Given the description of an element on the screen output the (x, y) to click on. 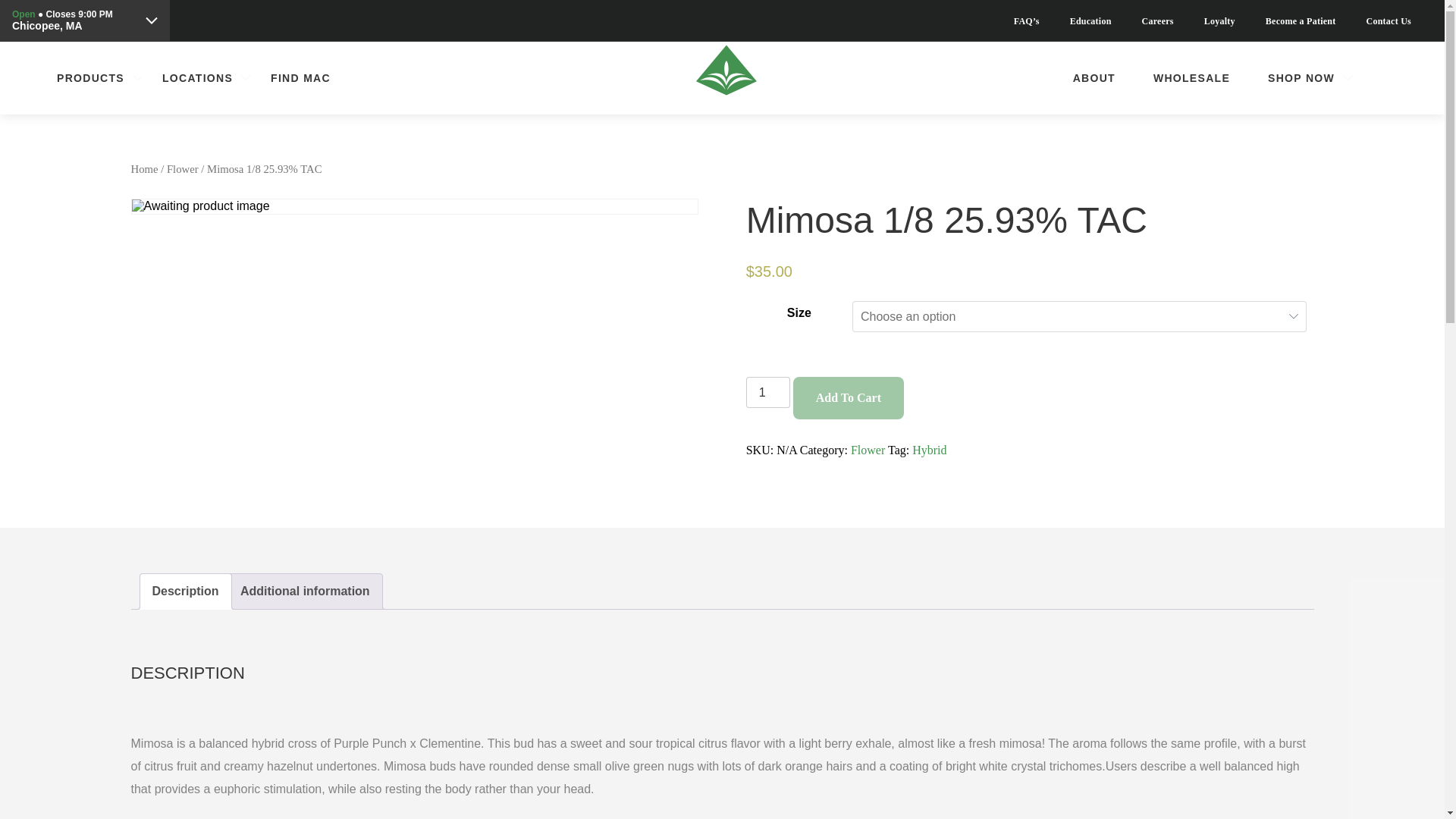
WHOLESALE (1191, 77)
1 (767, 391)
SHOP NOW (1301, 77)
Home (144, 168)
Hybrid (929, 449)
Loyalty (1219, 21)
Education (1091, 21)
Flower (182, 168)
Flower (867, 449)
Add To Cart (848, 397)
Description (184, 591)
FIND MAC (300, 77)
Contact Us (1388, 21)
PRODUCTS (89, 77)
home (721, 78)
